Given the description of an element on the screen output the (x, y) to click on. 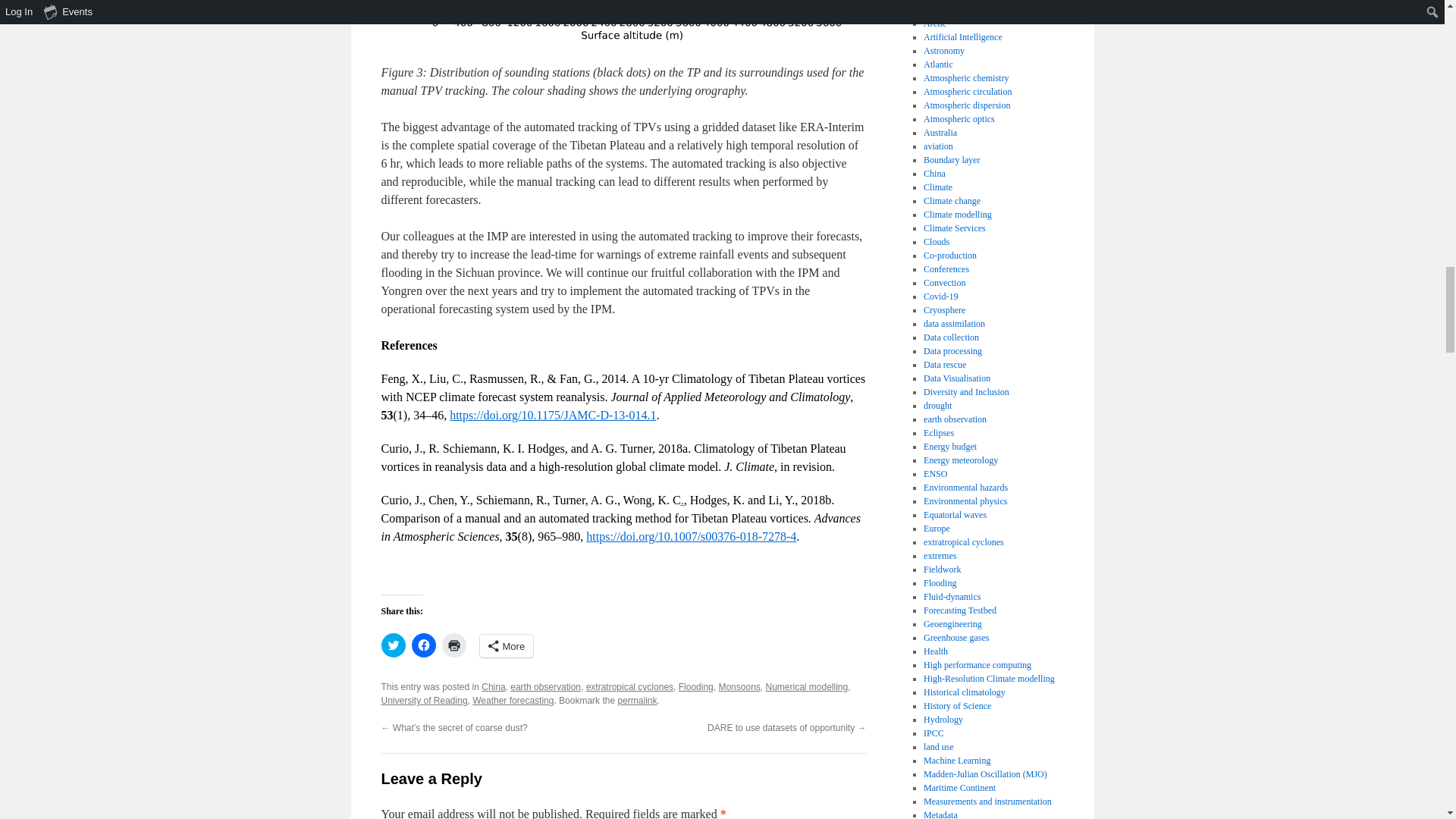
Monsoons (738, 686)
Numerical modelling (806, 686)
Click to share on Facebook (422, 645)
Permalink to Tibetan Plateau Vortices (636, 700)
Weather forecasting (512, 700)
Flooding (695, 686)
Click to print (453, 645)
University of Reading (423, 700)
earth observation (545, 686)
extratropical cyclones (629, 686)
permalink (636, 700)
More (505, 645)
China (493, 686)
Click to share on Twitter (392, 645)
